Given the description of an element on the screen output the (x, y) to click on. 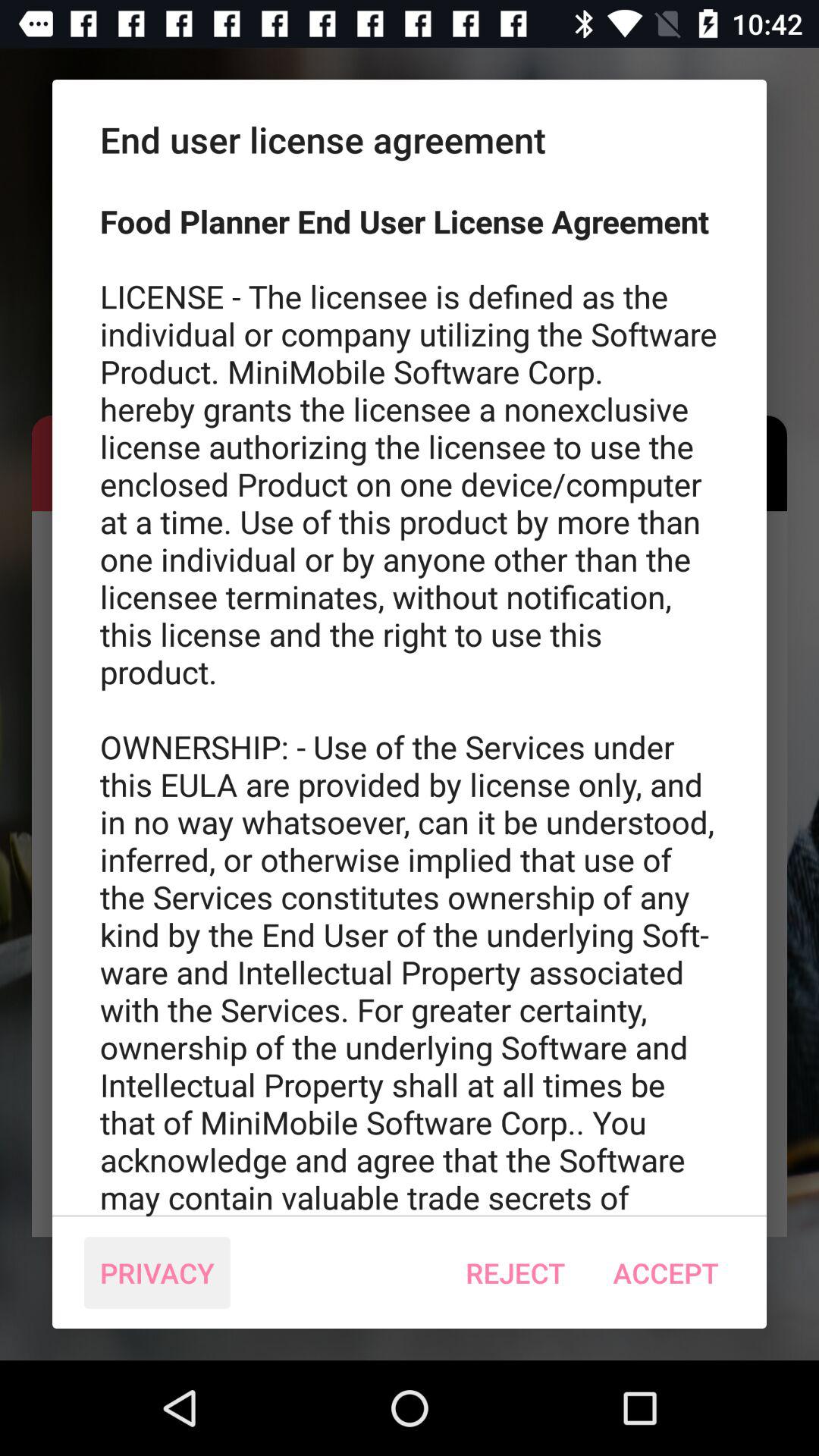
launch icon below the food planner end icon (157, 1272)
